Given the description of an element on the screen output the (x, y) to click on. 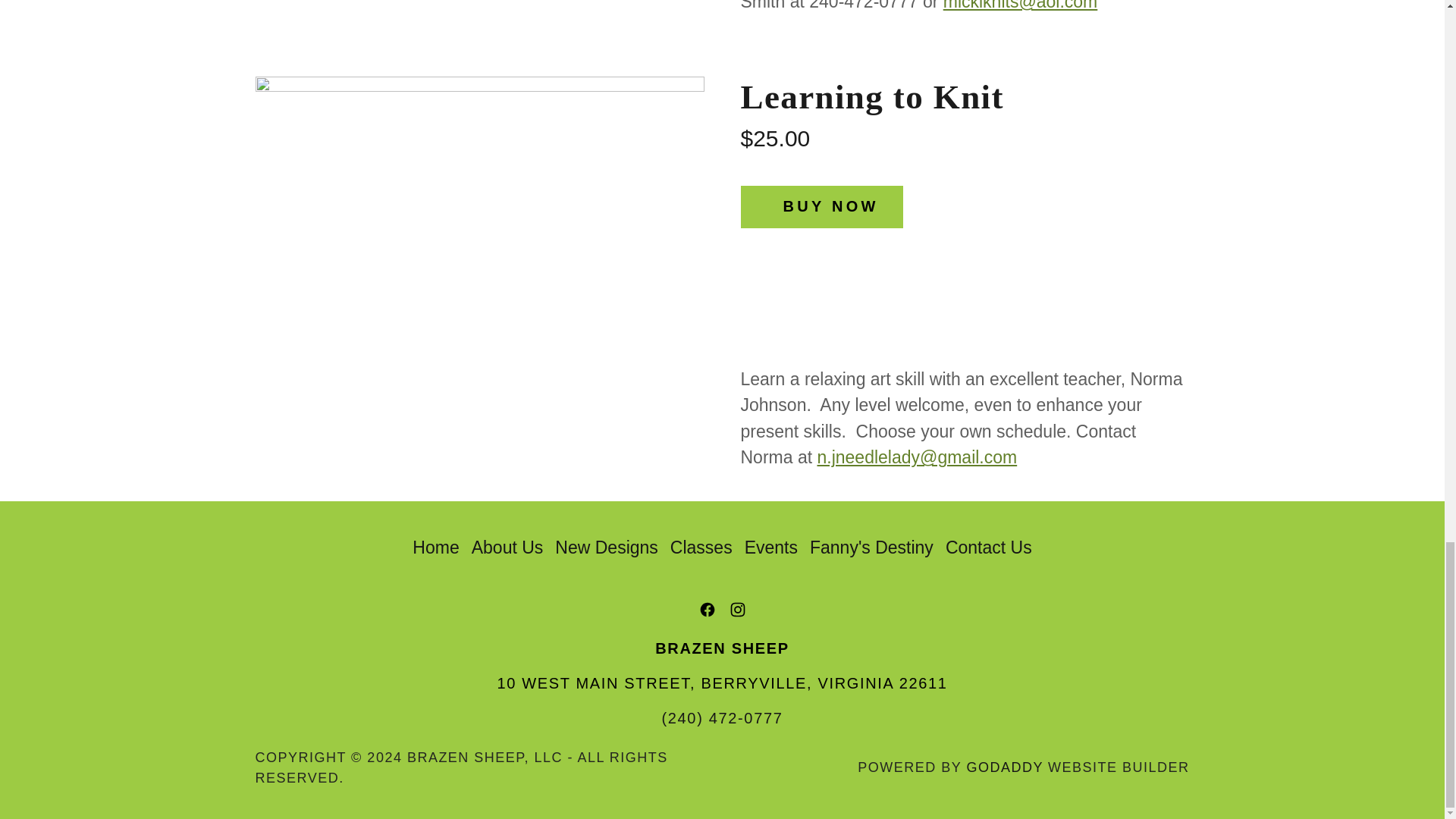
Home (435, 547)
Contact Us (988, 547)
New Designs (605, 547)
Events (770, 547)
About Us (507, 547)
BUY NOW (820, 206)
Fanny's Destiny (871, 547)
Classes (700, 547)
